Given the description of an element on the screen output the (x, y) to click on. 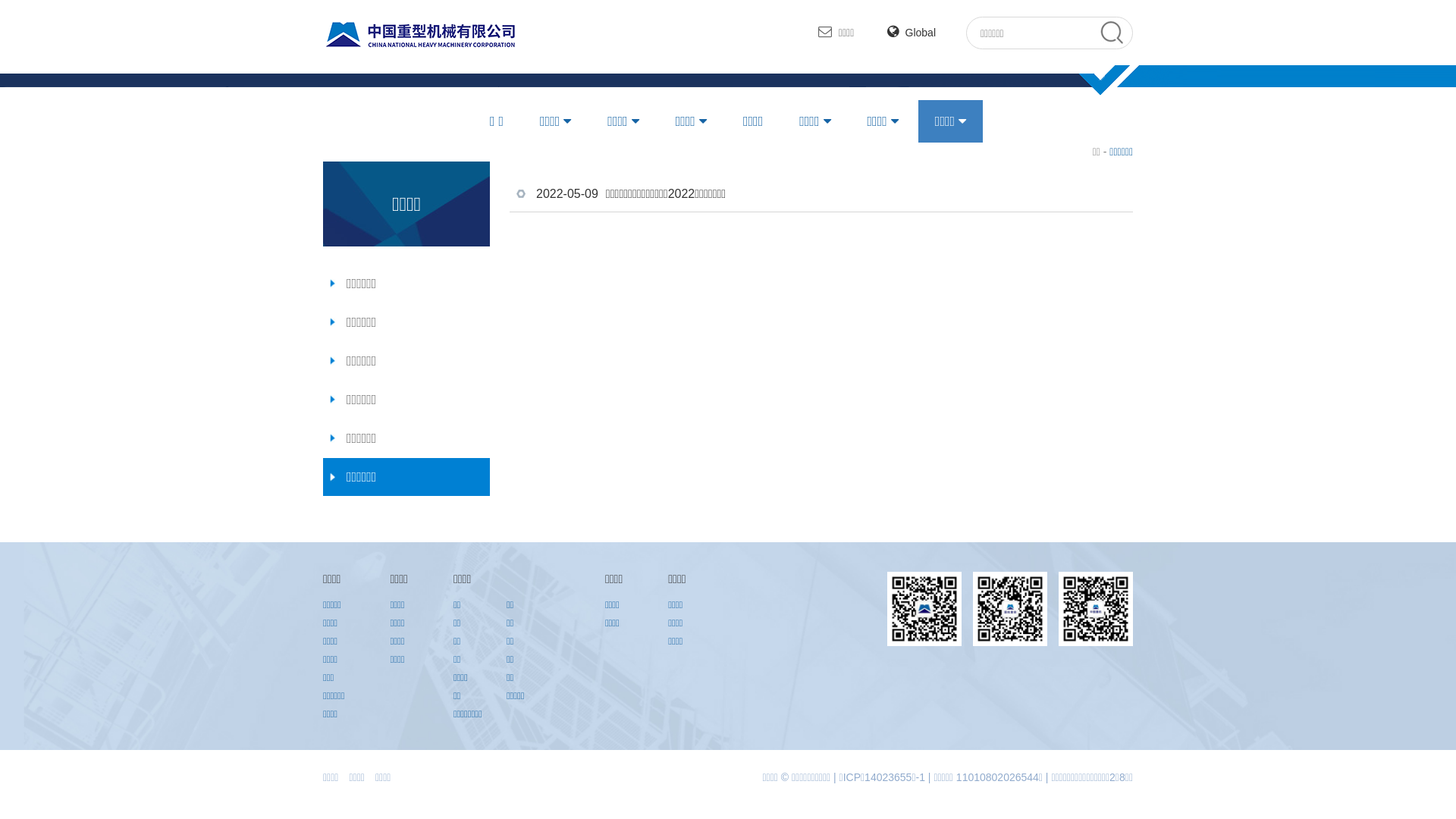
Global Element type: text (911, 32)
